Given the description of an element on the screen output the (x, y) to click on. 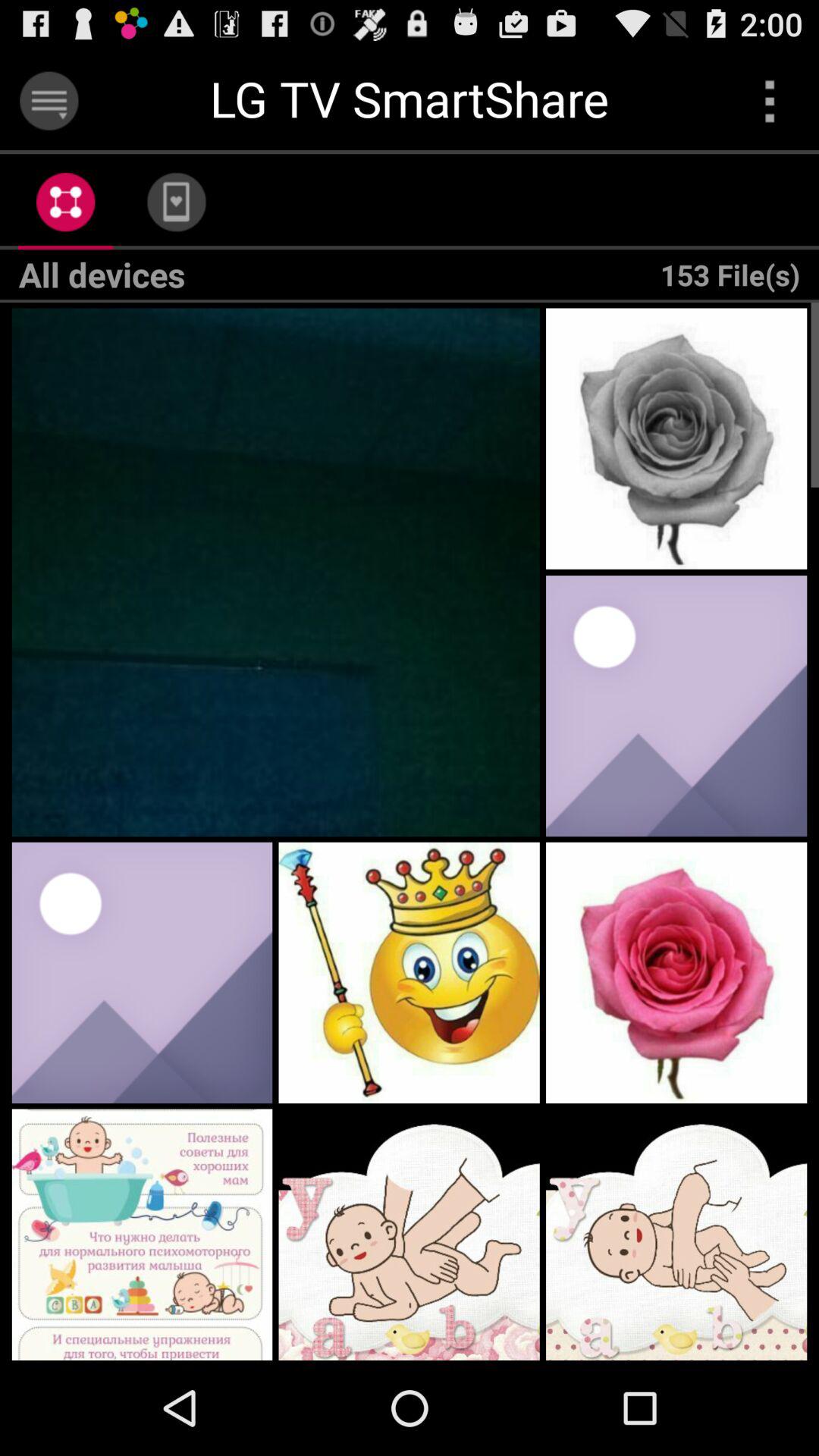
turn on the app next to 153 file(s) app (176, 201)
